Given the description of an element on the screen output the (x, y) to click on. 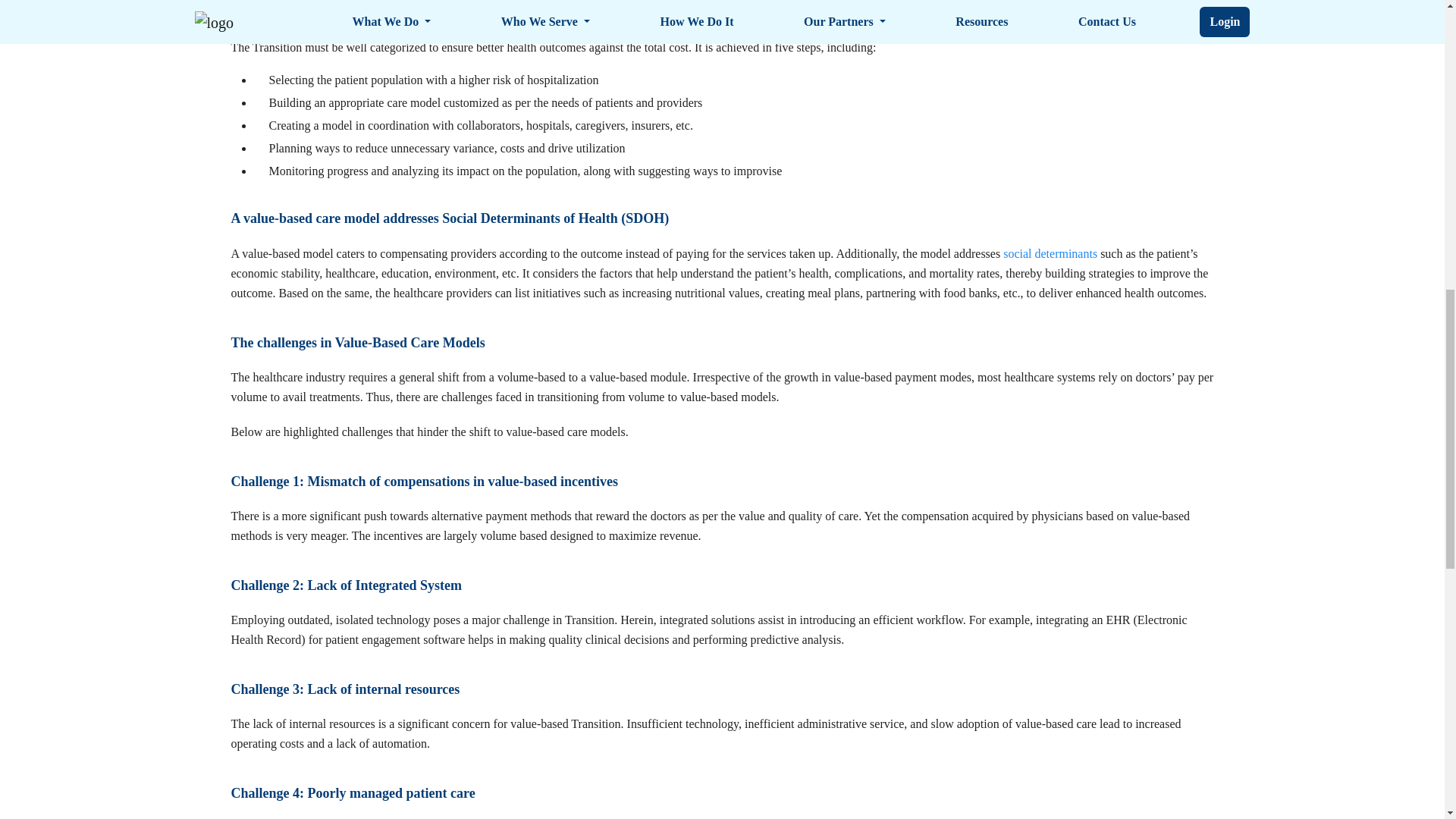
social determinants (1050, 253)
